Given the description of an element on the screen output the (x, y) to click on. 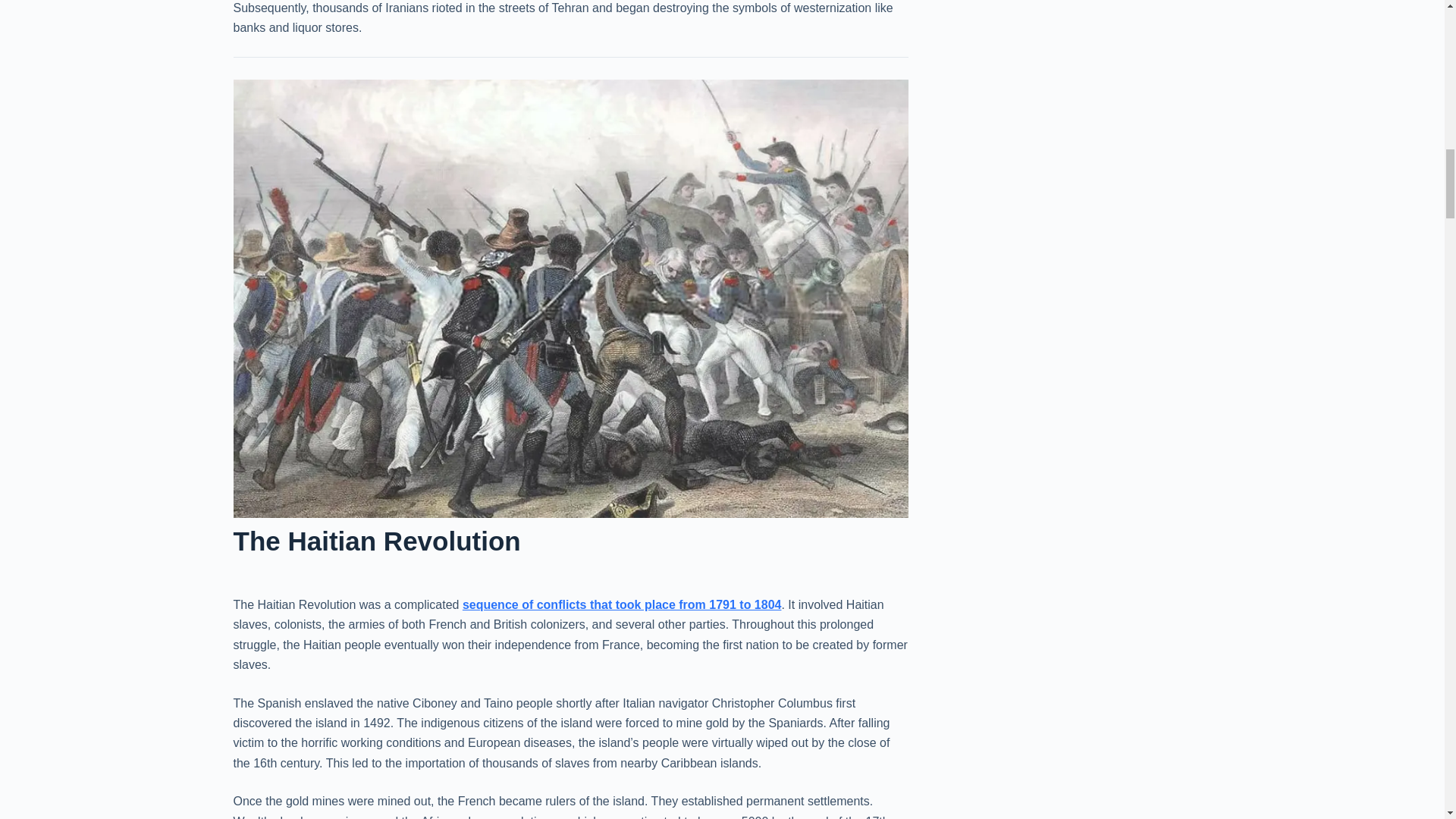
sequence of conflicts that took place from 1791 to 1804 (622, 604)
